Given the description of an element on the screen output the (x, y) to click on. 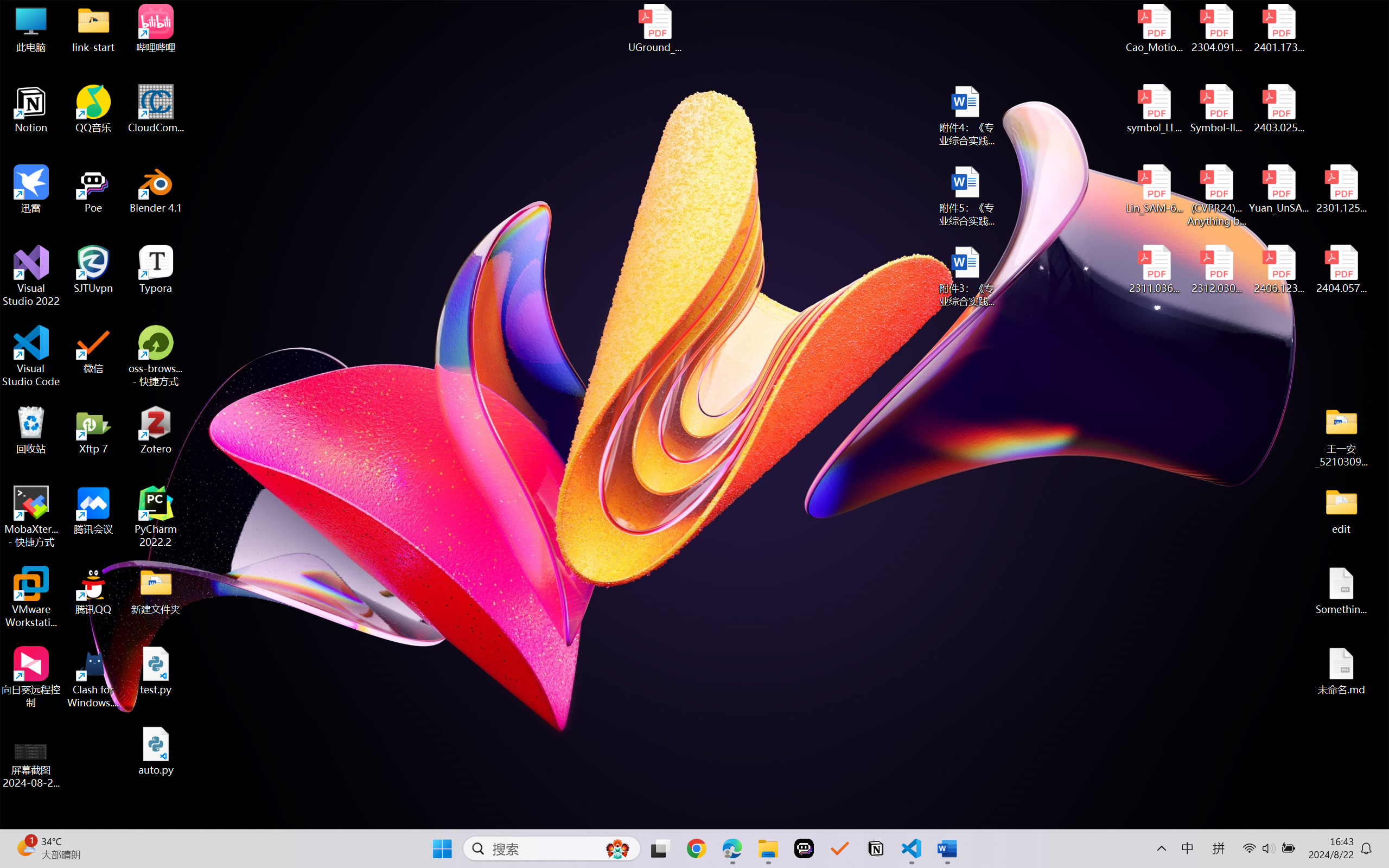
2403.02502v1.pdf (1278, 109)
edit (1340, 510)
2404.05719v1.pdf (1340, 269)
2311.03658v2.pdf (1154, 269)
2304.09121v3.pdf (1216, 28)
Symbol-llm-v2.pdf (1216, 109)
